Given the description of an element on the screen output the (x, y) to click on. 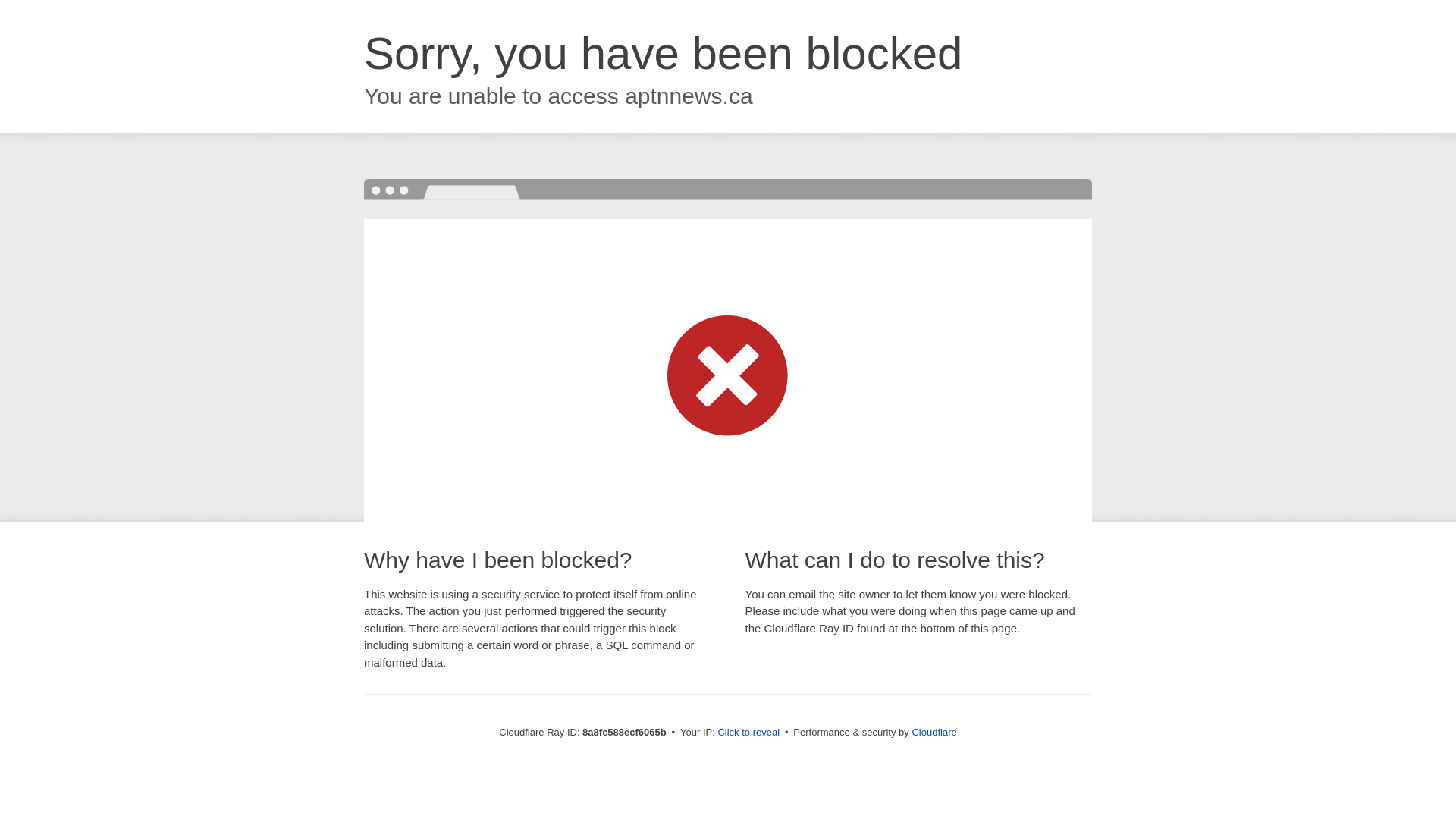
Click to reveal (747, 732)
Cloudflare (933, 731)
